Given the description of an element on the screen output the (x, y) to click on. 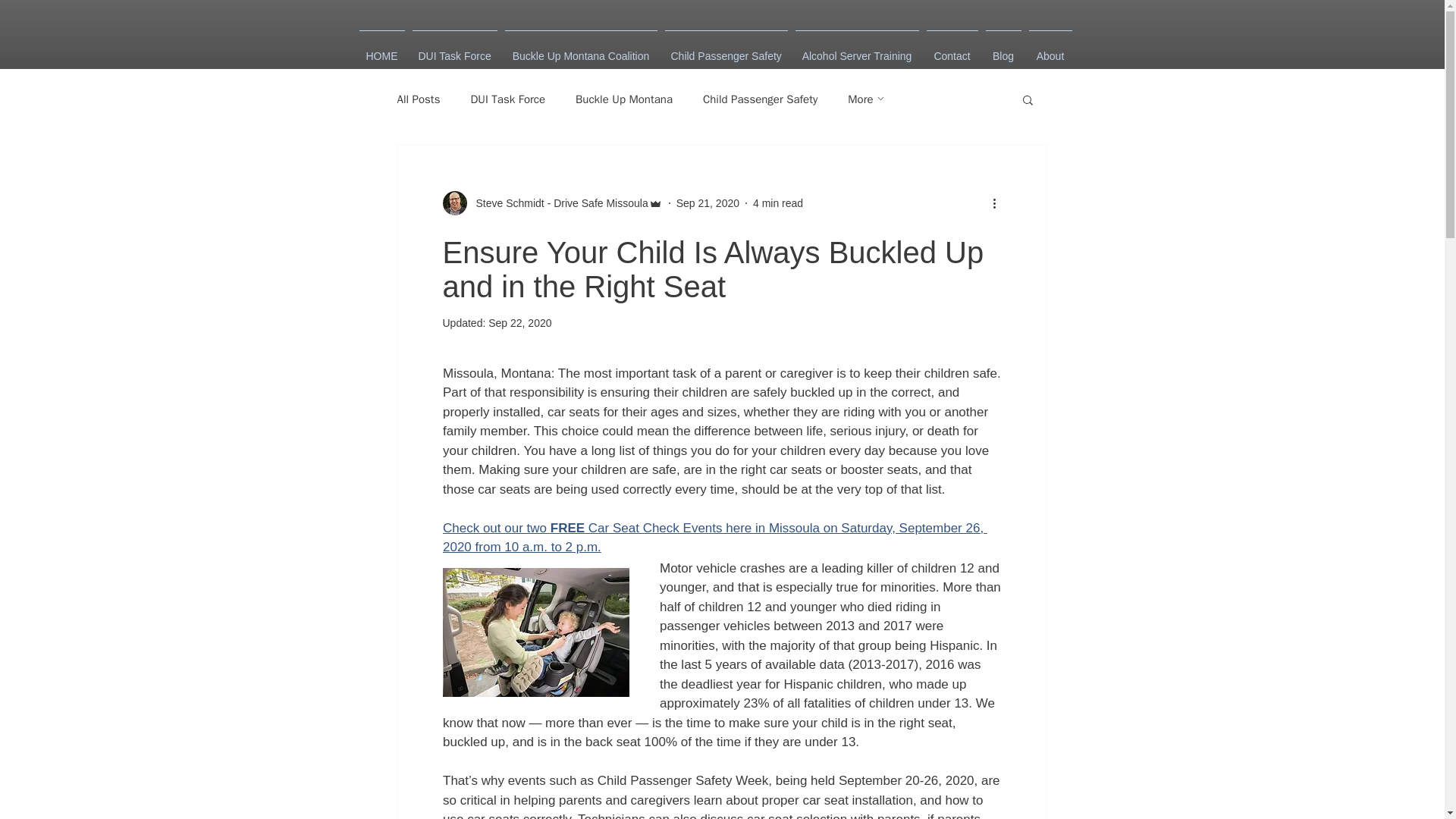
Buckle Up Montana Coalition (580, 48)
Check out our two  (496, 527)
DUI Task Force (507, 99)
FREE (566, 527)
Child Passenger Safety (759, 99)
Contact (951, 48)
About (1050, 48)
Alcohol Server Training (857, 48)
Blog (1003, 48)
Sep 21, 2020 (708, 203)
